Given the description of an element on the screen output the (x, y) to click on. 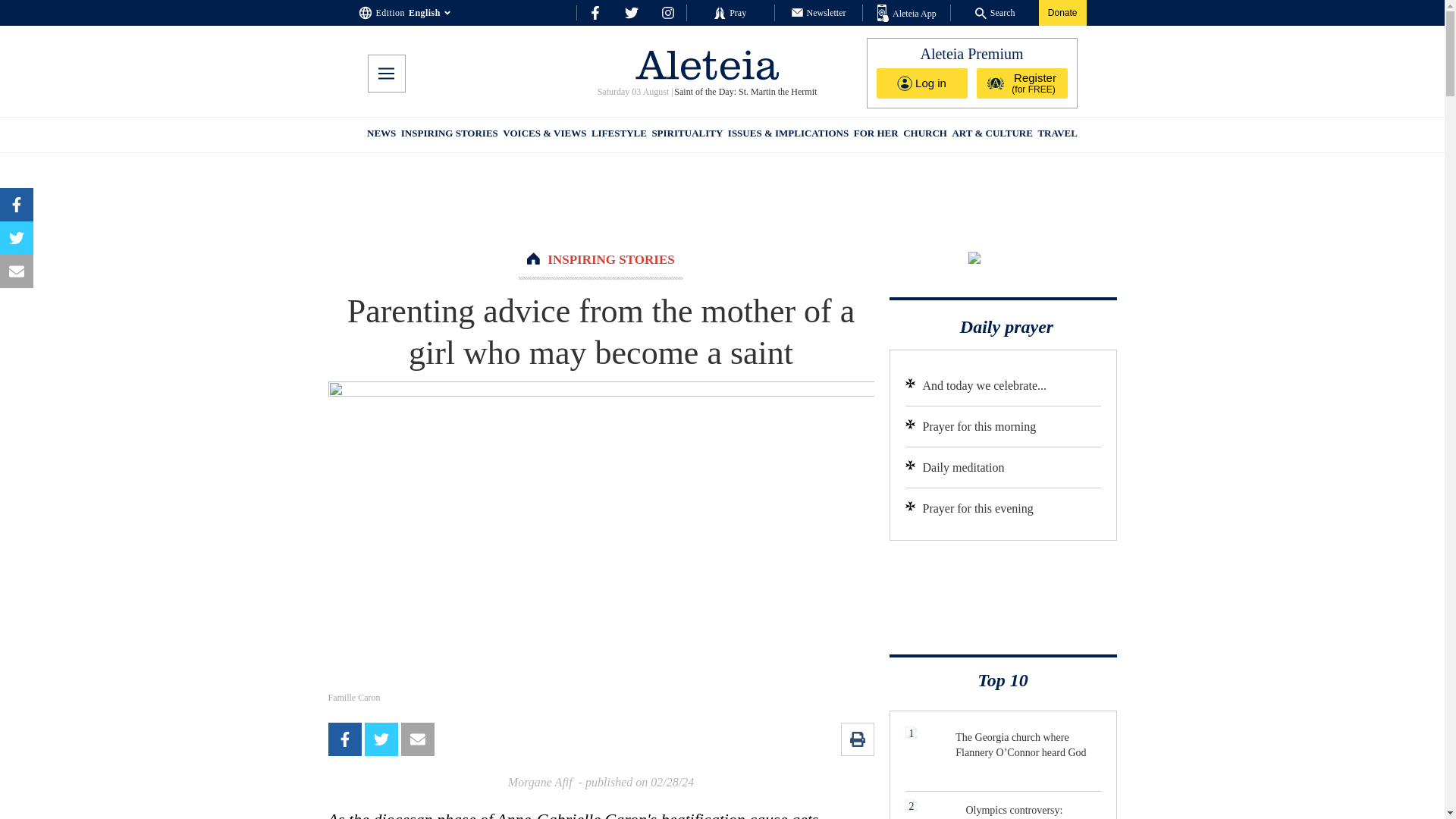
mobile-menu-btn (385, 73)
social-fb-top-row (595, 12)
logo-header (706, 64)
Log in (922, 82)
Aleteia App (906, 13)
TRAVEL (1056, 134)
INSPIRING STORIES (449, 134)
Saint of the Day: St. Martin the Hermit (744, 91)
INSPIRING STORIES (610, 259)
LIFESTYLE (618, 134)
social-ig-top-row (668, 12)
Donate (1062, 12)
SPIRITUALITY (686, 134)
Newsletter (818, 12)
CHURCH (924, 134)
